Given the description of an element on the screen output the (x, y) to click on. 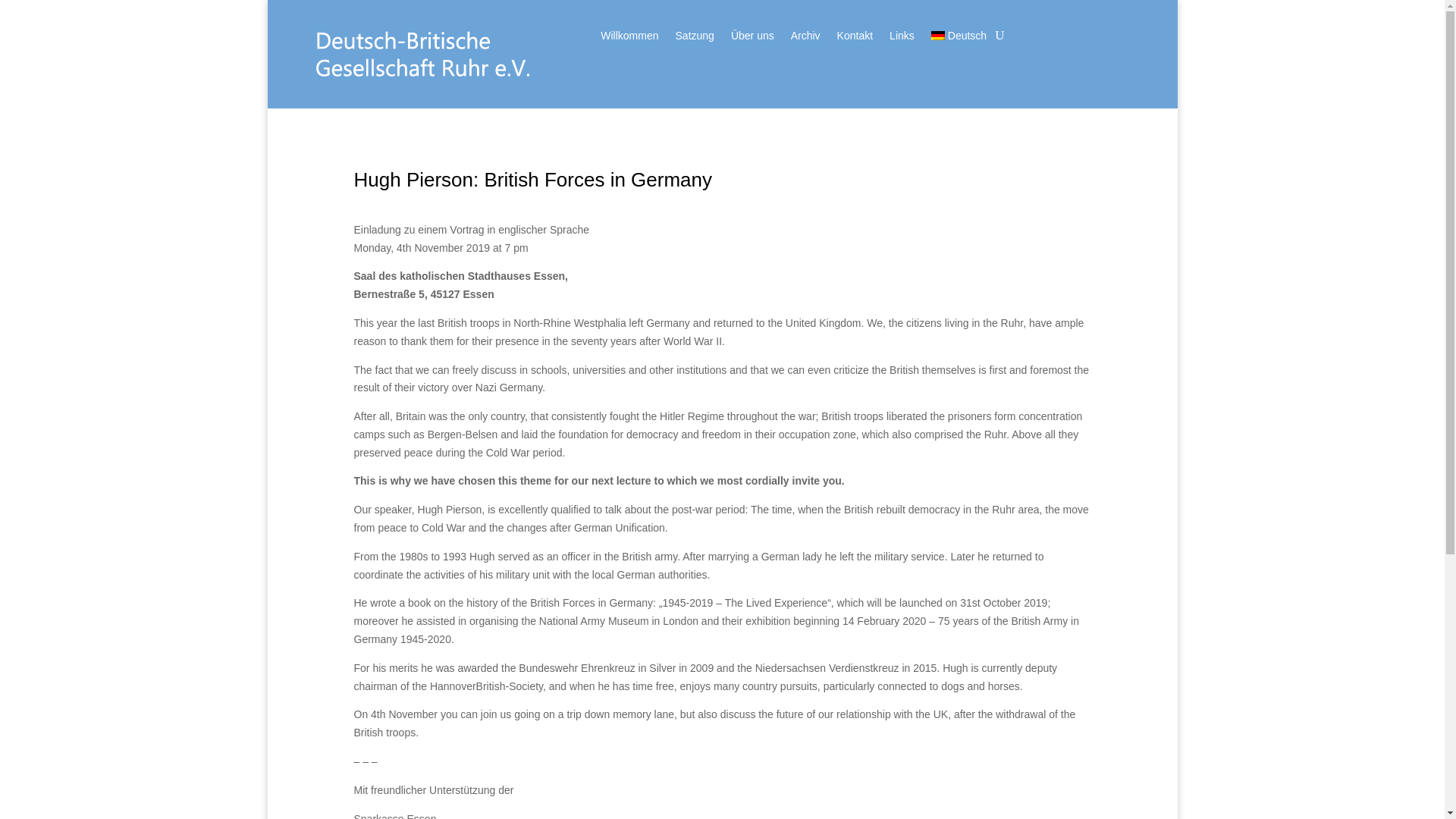
Willkommen (628, 38)
Archiv (805, 38)
Satzung (694, 38)
Links (901, 38)
Logo (430, 54)
Kontakt (854, 38)
Deutsch (959, 38)
